Given the description of an element on the screen output the (x, y) to click on. 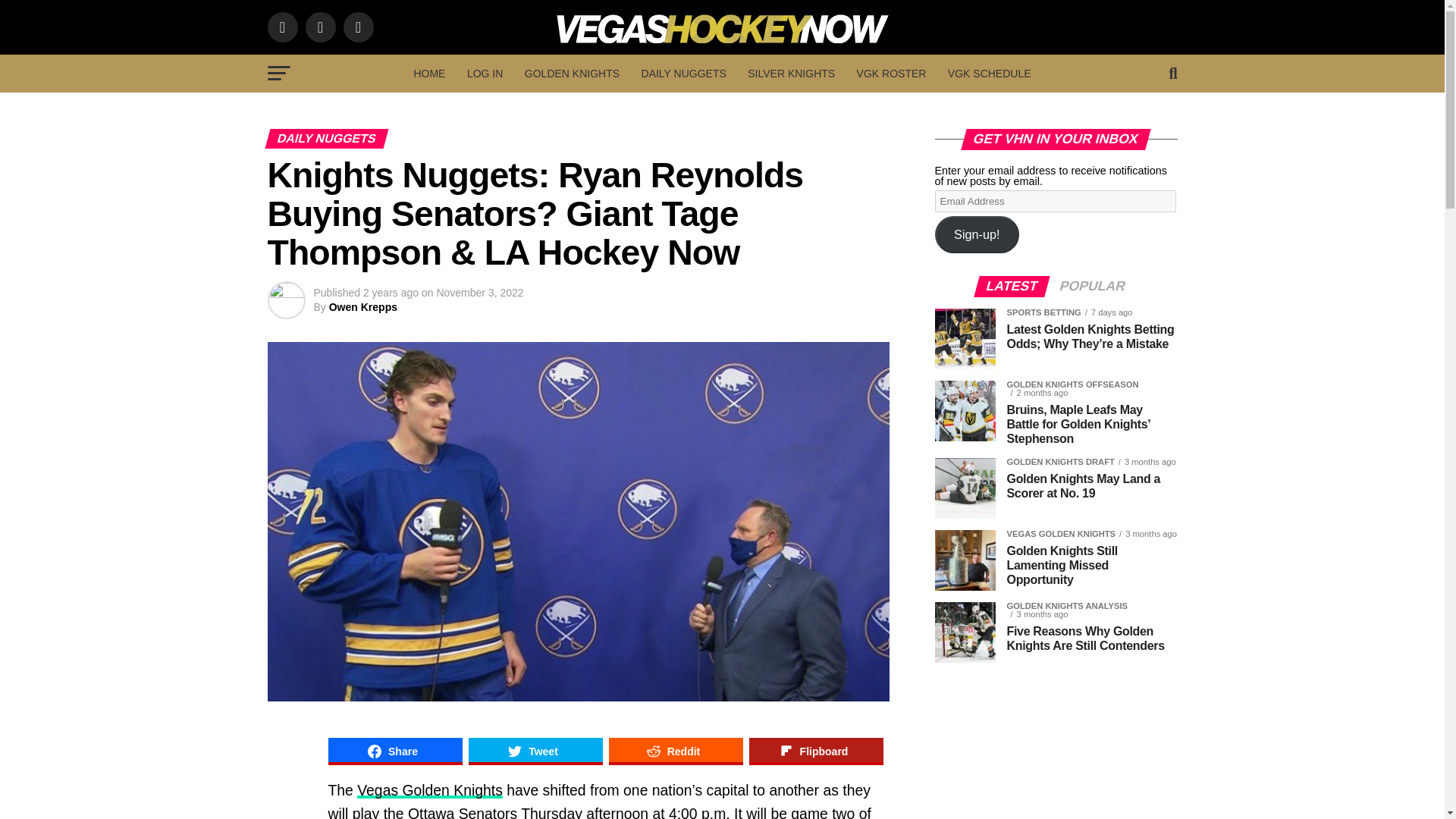
VGK SCHEDULE (990, 73)
Posts by Owen Krepps (363, 306)
GOLDEN KNIGHTS (571, 73)
Share on Reddit (675, 750)
LOG IN (485, 73)
HOME (429, 73)
Owen Krepps (363, 306)
DAILY NUGGETS (683, 73)
Share on Flipboard (816, 750)
SILVER KNIGHTS (791, 73)
